Given the description of an element on the screen output the (x, y) to click on. 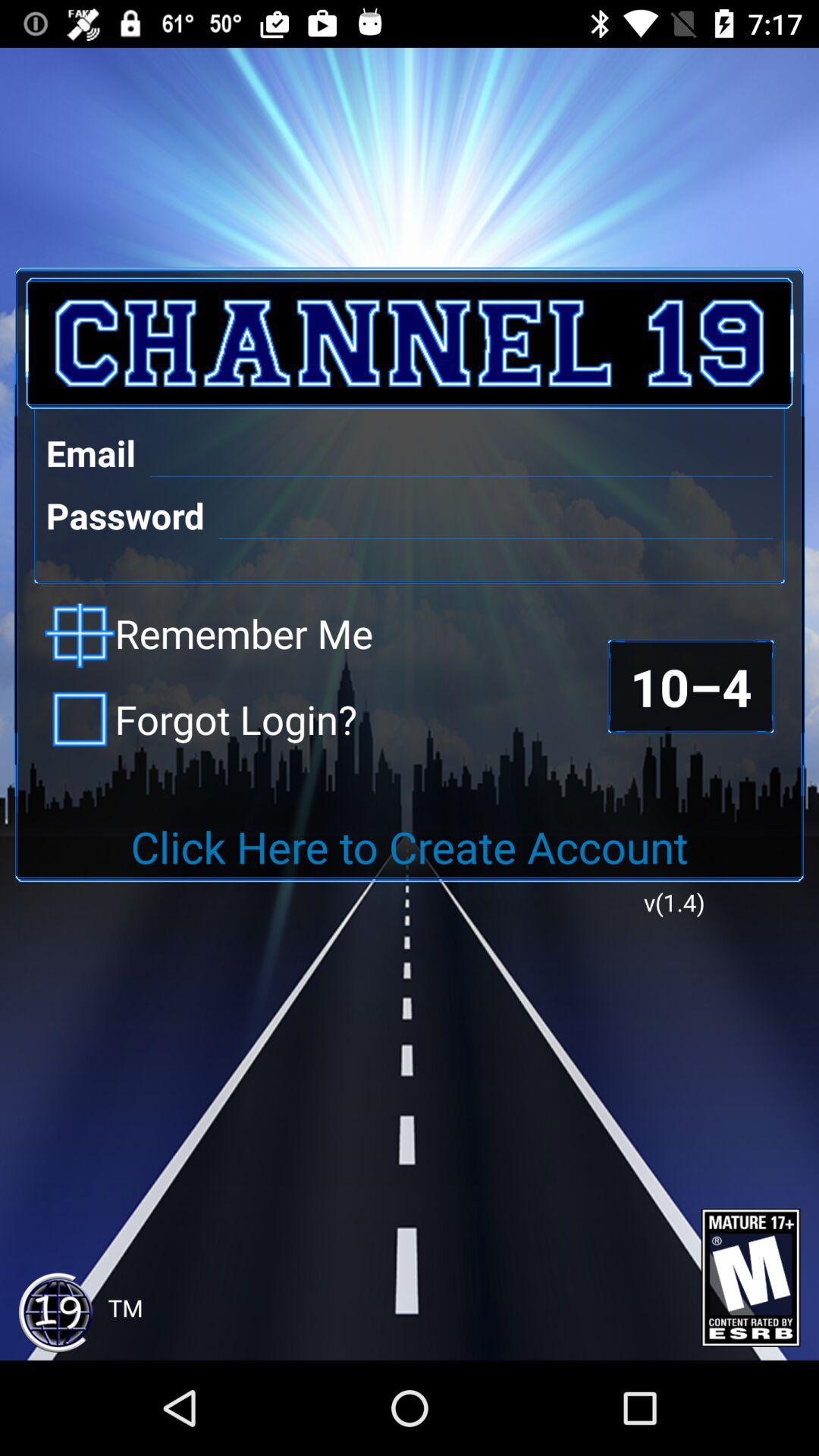
choose the item above forgot login? checkbox (208, 635)
